Given the description of an element on the screen output the (x, y) to click on. 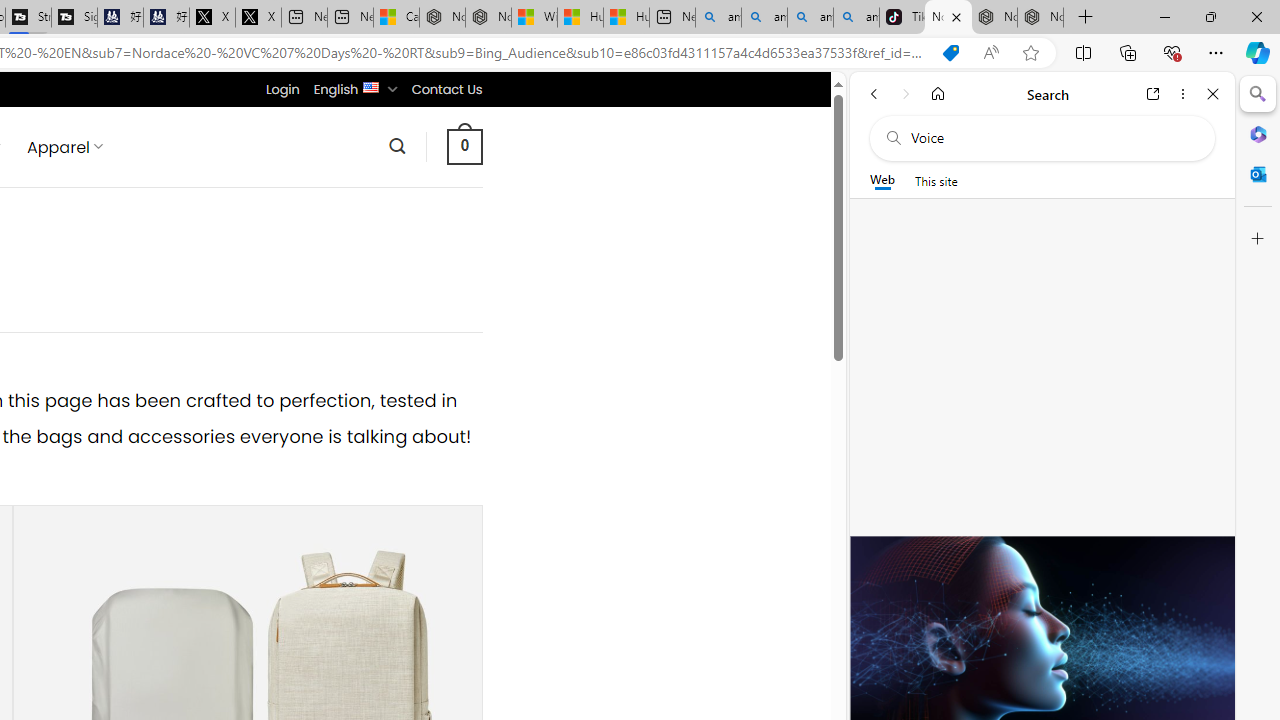
This site scope (936, 180)
  0   (464, 146)
 0  (464, 146)
Nordace Siena Pro 15 Backpack (994, 17)
